Given the description of an element on the screen output the (x, y) to click on. 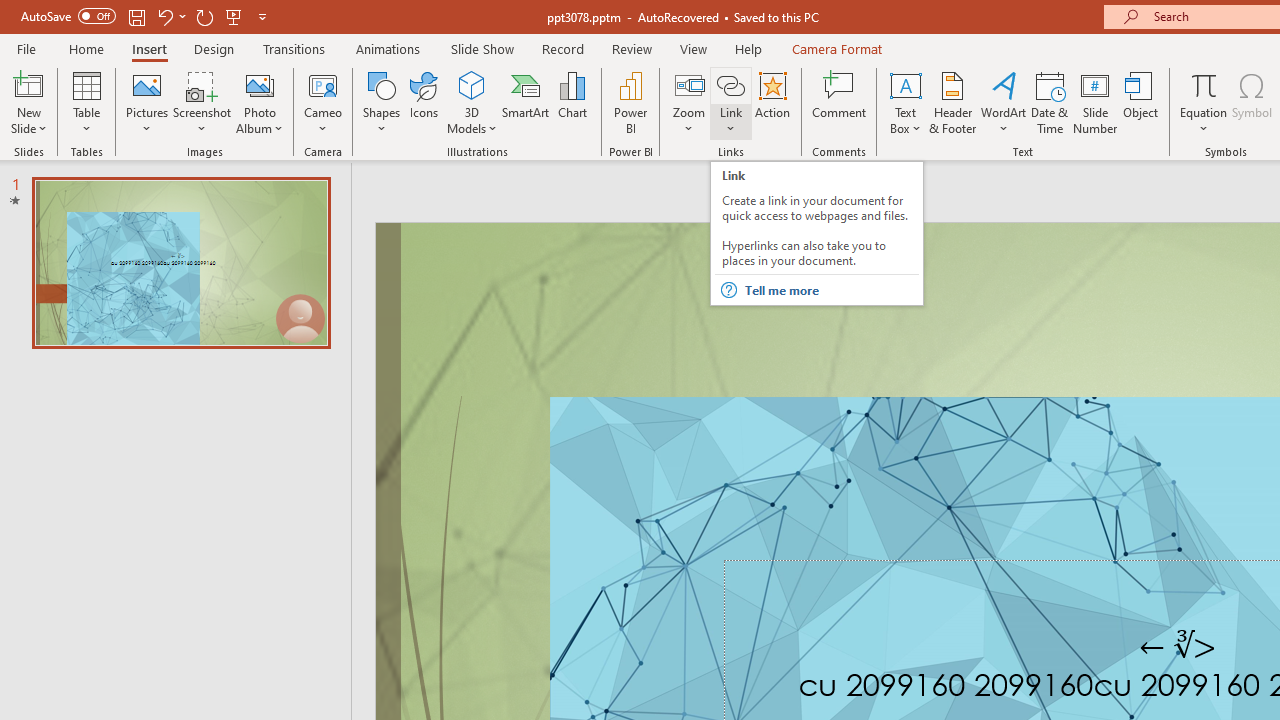
Insert (149, 48)
Comment (839, 102)
Header & Footer... (952, 102)
Icons (424, 102)
Photo Album... (259, 102)
Chart... (572, 102)
AutoSave (68, 16)
Class: NetUIImage (728, 290)
Shapes (381, 102)
Undo (164, 15)
Power BI (630, 102)
Zoom (689, 102)
Redo (204, 15)
Slide (180, 262)
Quick Access Toolbar (145, 16)
